Given the description of an element on the screen output the (x, y) to click on. 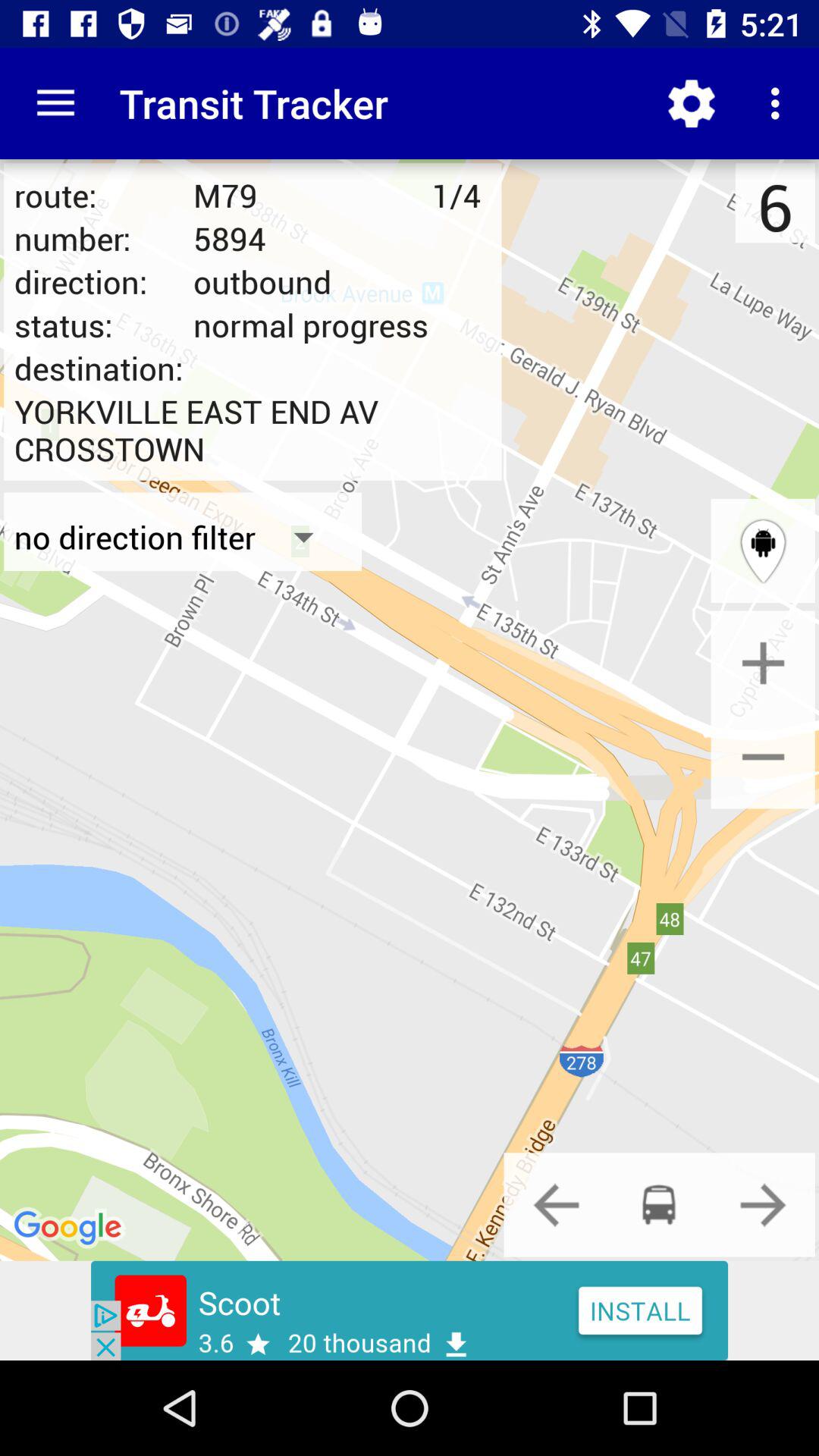
zoom in (762, 662)
